Given the description of an element on the screen output the (x, y) to click on. 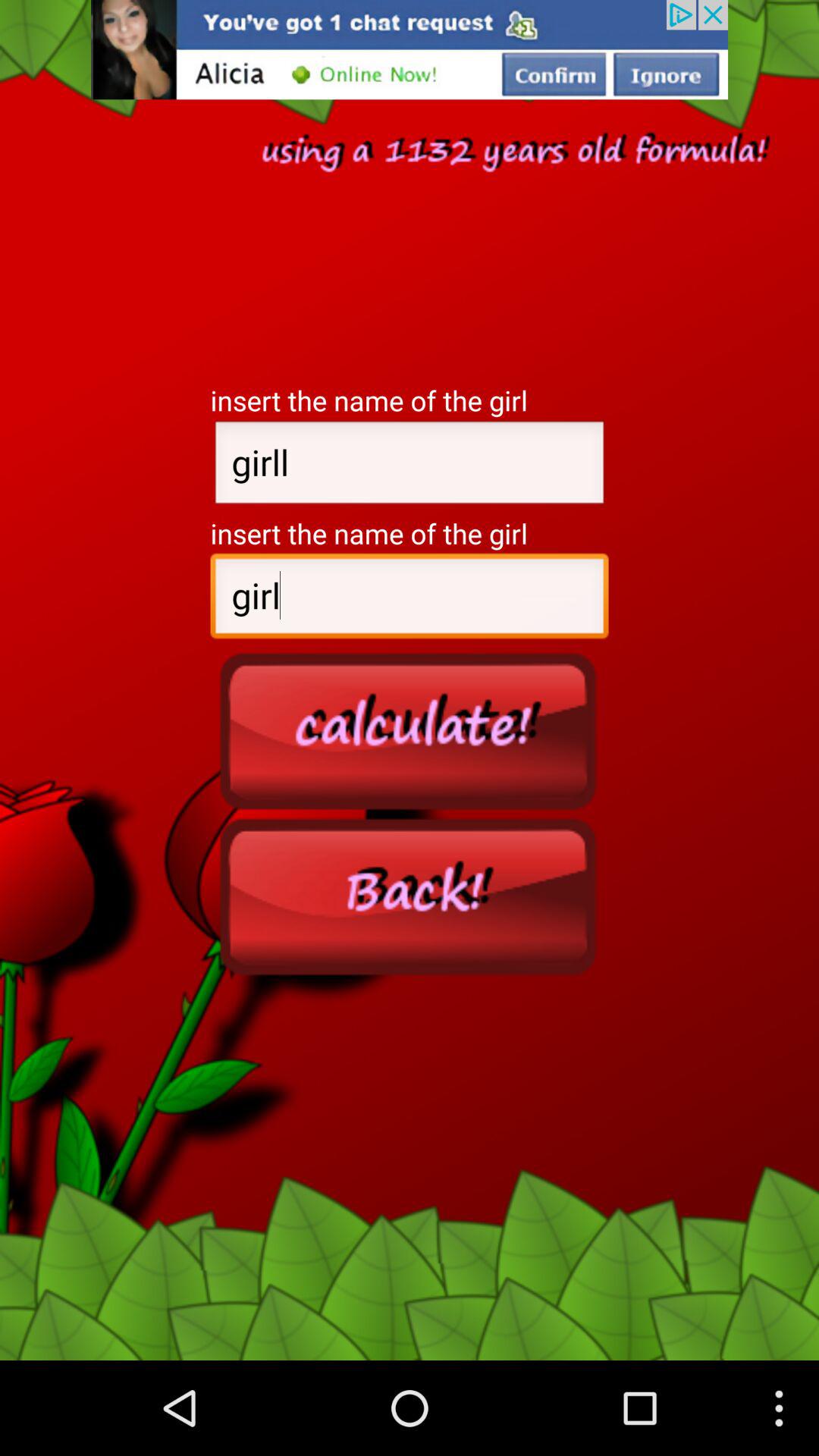
calculate name (409, 730)
